Given the description of an element on the screen output the (x, y) to click on. 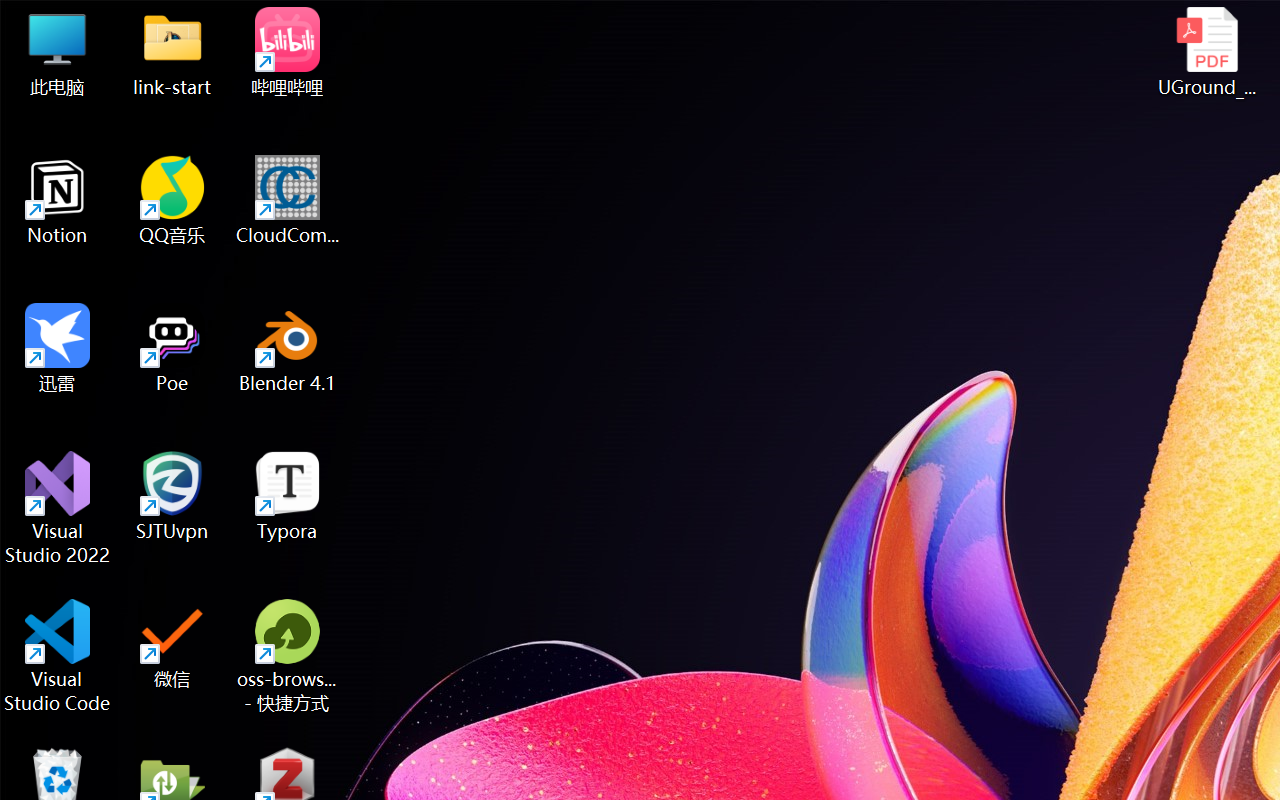
Blender 4.1 (287, 348)
SJTUvpn (172, 496)
UGround_paper.pdf (1206, 52)
CloudCompare (287, 200)
Visual Studio 2022 (57, 508)
Visual Studio Code (57, 656)
Typora (287, 496)
